Given the description of an element on the screen output the (x, y) to click on. 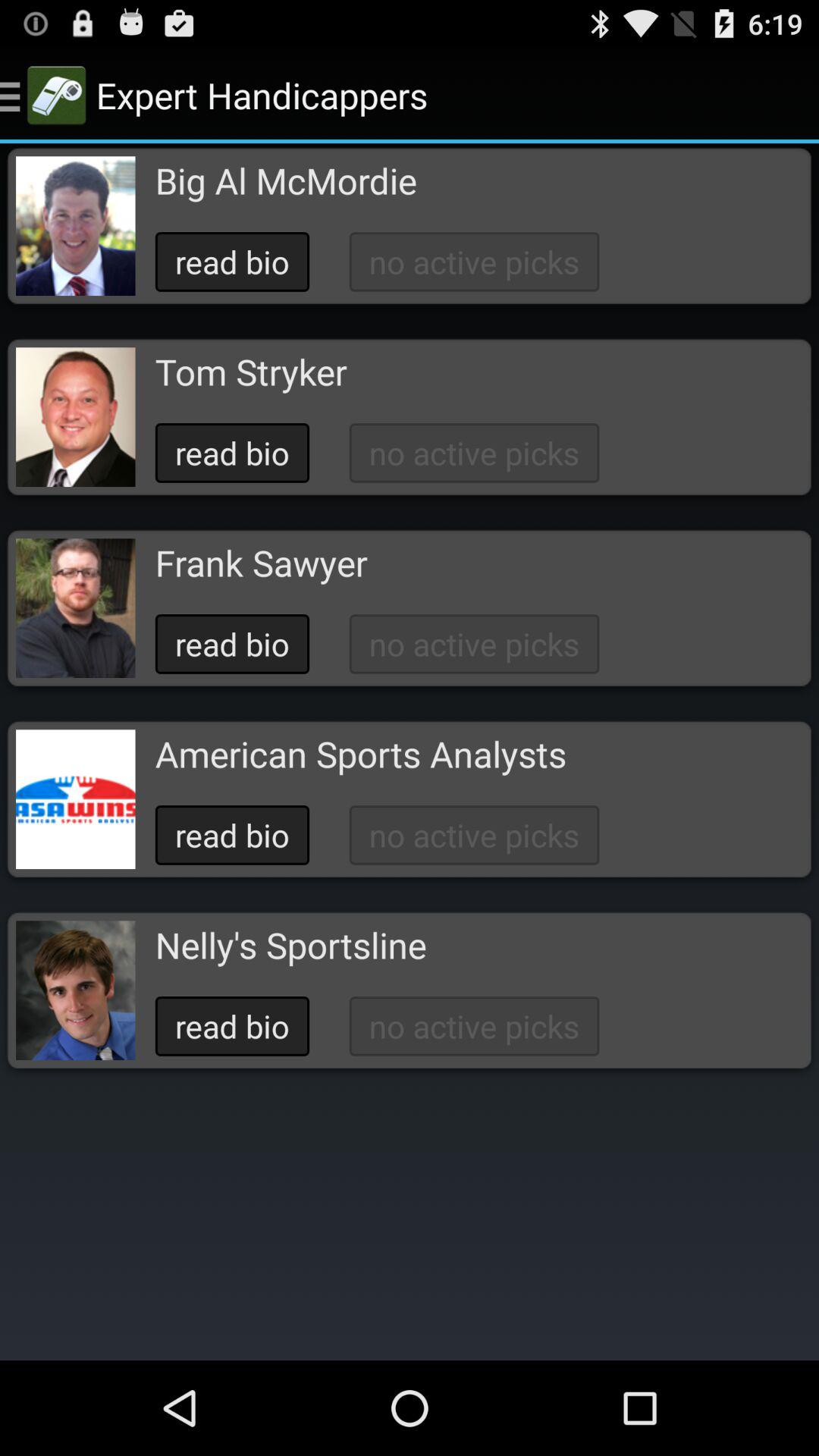
choose icon below read bio (250, 371)
